Given the description of an element on the screen output the (x, y) to click on. 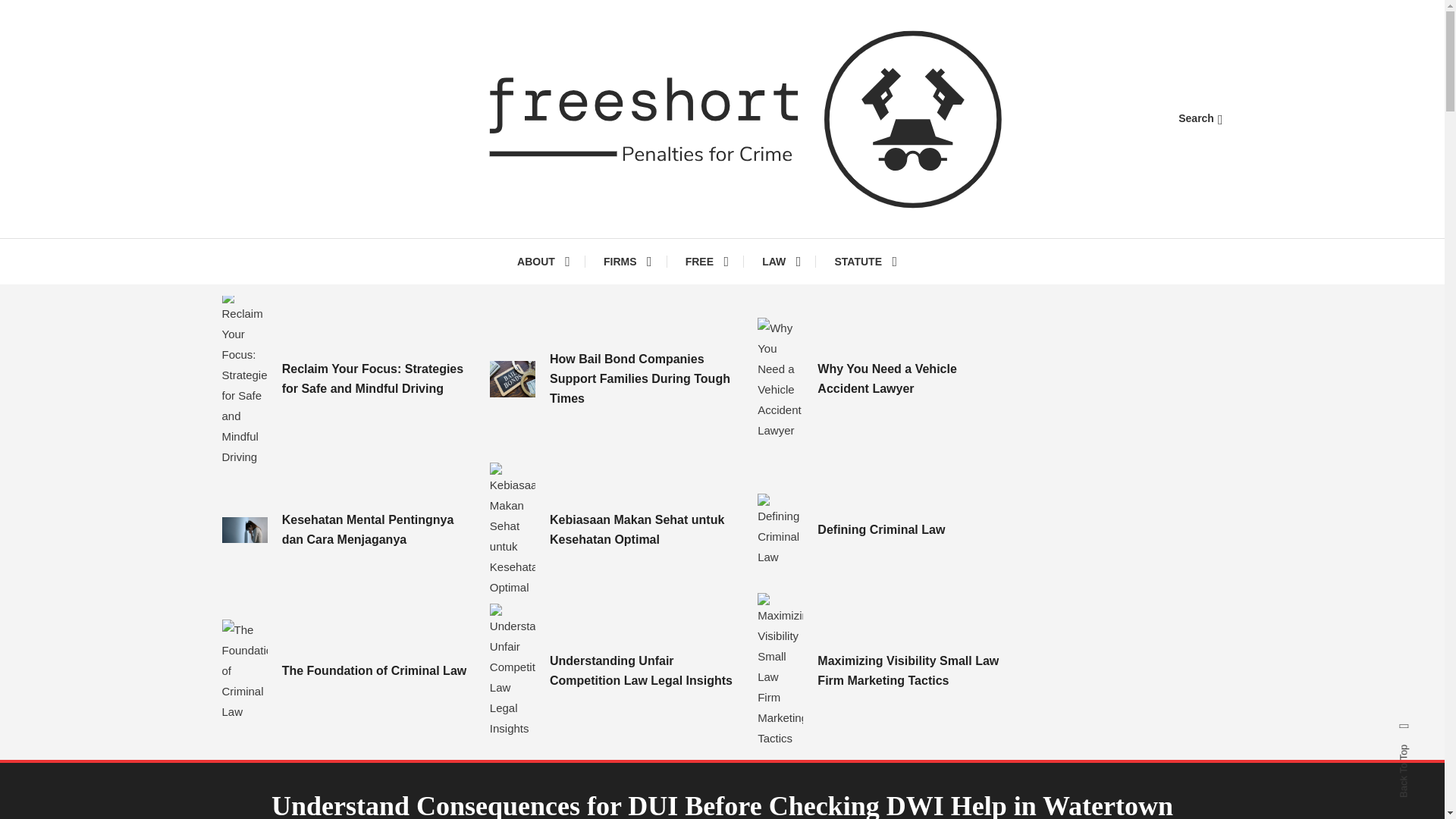
Reclaim Your Focus: Strategies for Safe and Mindful Driving (376, 378)
How Bail Bond Companies Support Families During Tough Times (512, 378)
STATUTE (864, 261)
FREE (706, 261)
Kesehatan Mental Pentingnya dan Cara Menjaganya (376, 529)
Kebiasaan Makan Sehat untuk Kesehatan Optimal (644, 529)
Search (768, 434)
Search (1200, 118)
Skip To Content (40, 10)
ABOUT (550, 261)
